Given the description of an element on the screen output the (x, y) to click on. 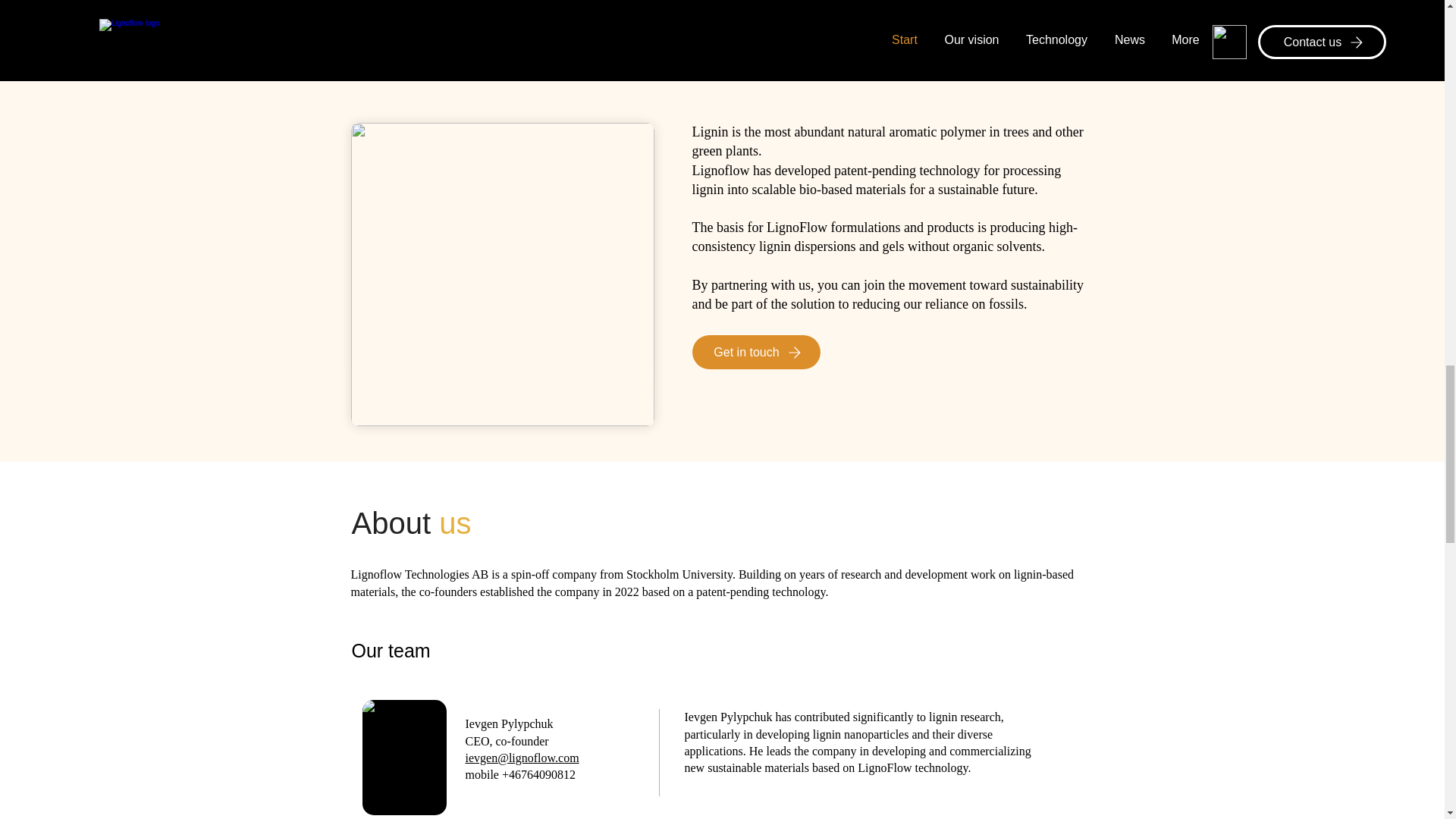
Get in touch (755, 351)
